Given the description of an element on the screen output the (x, y) to click on. 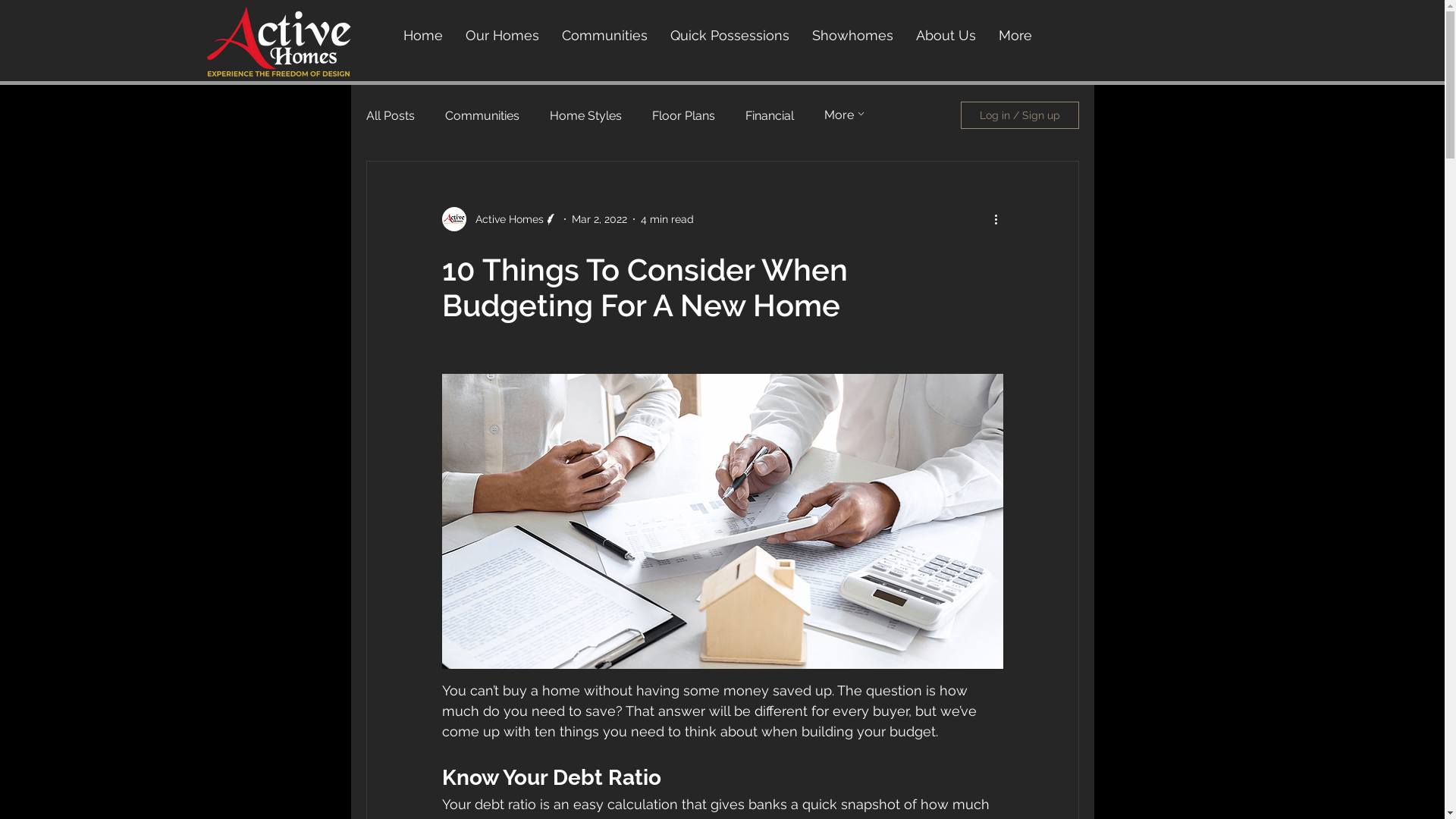
Communities Element type: text (604, 35)
Home Styles Element type: text (585, 114)
Our Homes Element type: text (501, 35)
Log in / Sign up Element type: text (1019, 114)
About Us Element type: text (944, 35)
Showhomes Element type: text (852, 35)
Communities Element type: text (481, 114)
All Posts Element type: text (389, 114)
Floor Plans Element type: text (683, 114)
Quick Possessions Element type: text (729, 35)
Financial Element type: text (768, 114)
Home Element type: text (422, 35)
